Given the description of an element on the screen output the (x, y) to click on. 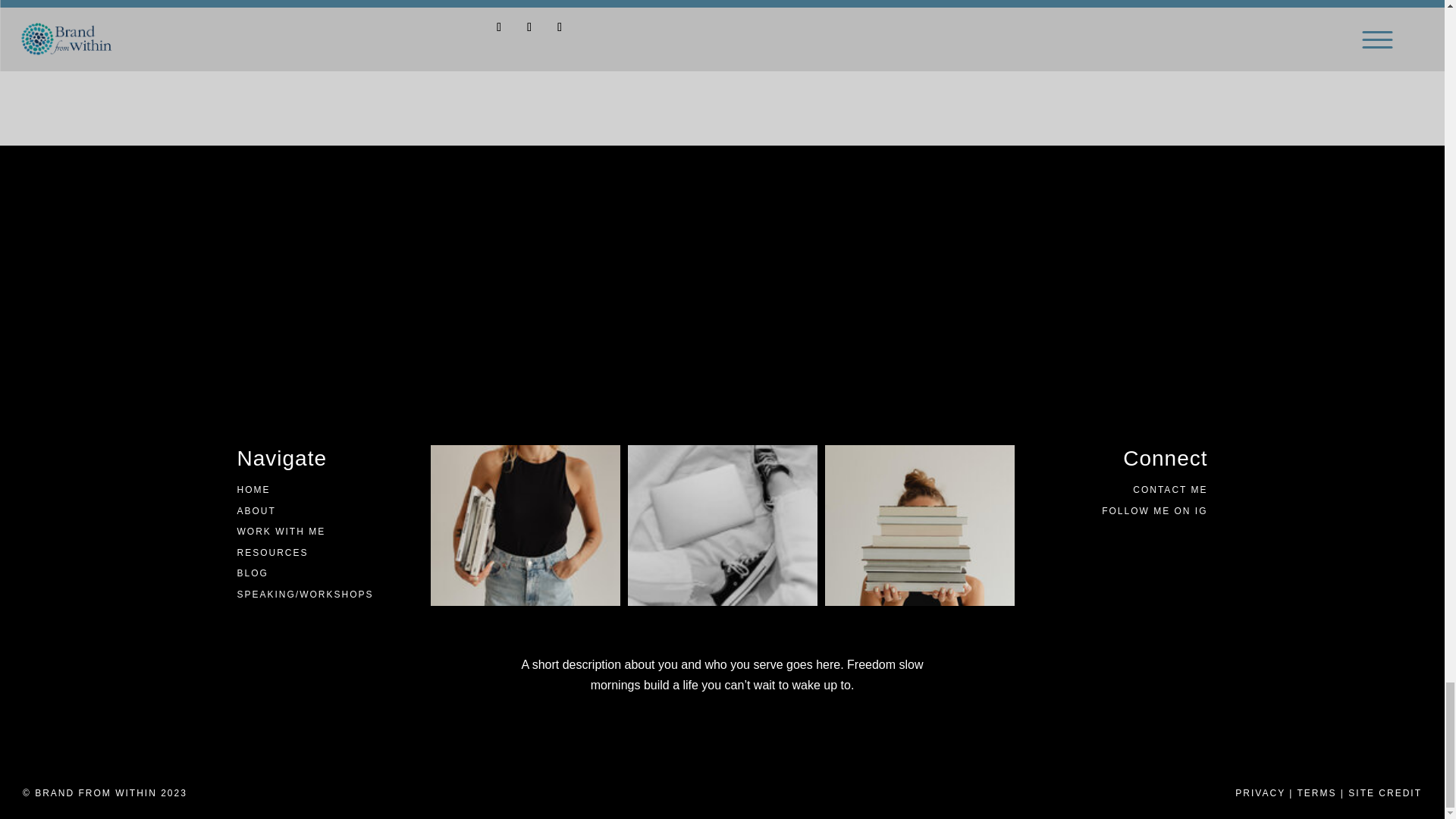
Follow on Facebook (528, 27)
Follow on Instagram (498, 27)
DOWNLOAD NOW (1097, 3)
Follow on Mail (559, 27)
